Given the description of an element on the screen output the (x, y) to click on. 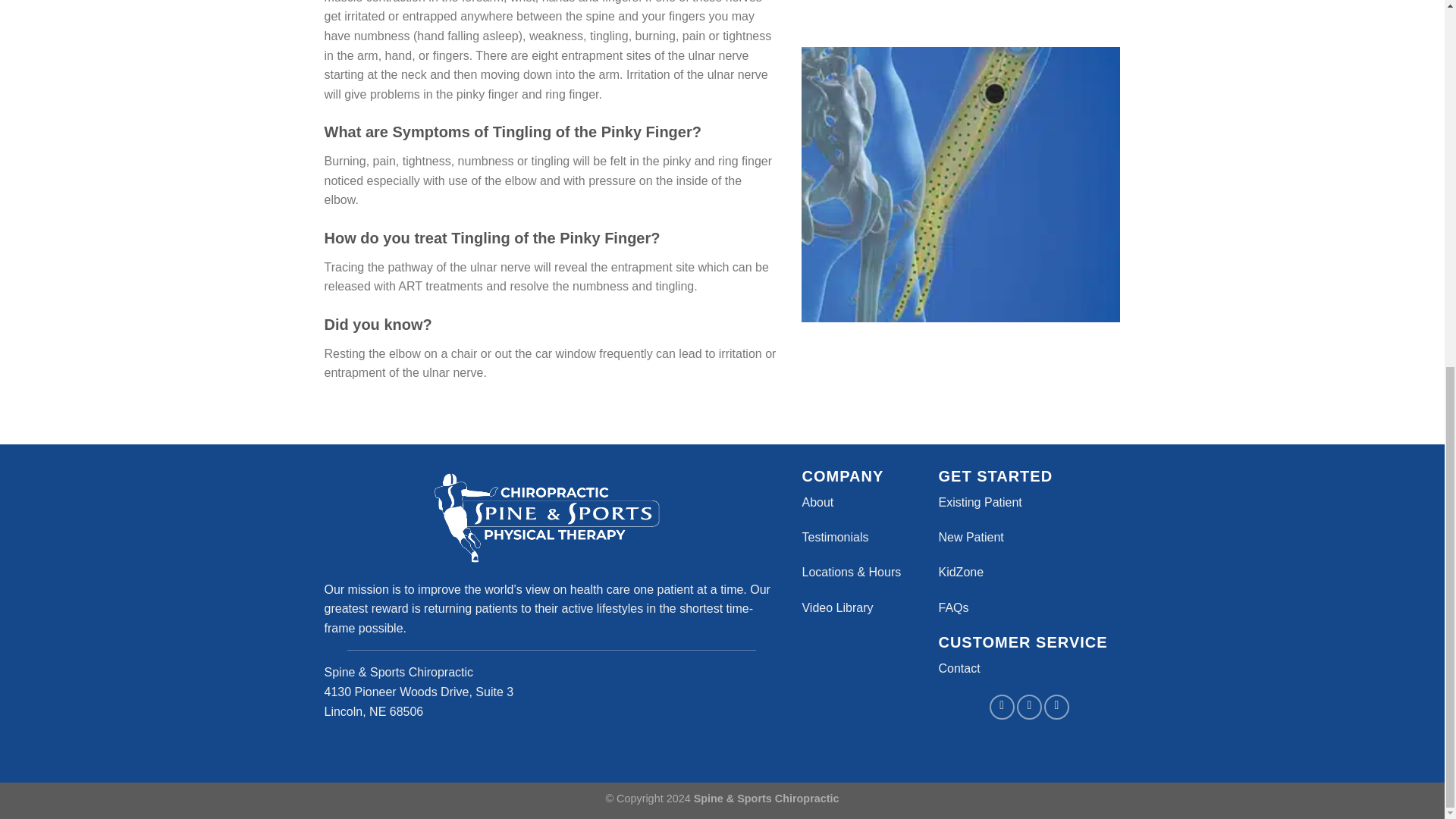
Follow on YouTube (1055, 706)
Follow on Facebook (1002, 706)
Follow on Instagram (1029, 706)
